Given the description of an element on the screen output the (x, y) to click on. 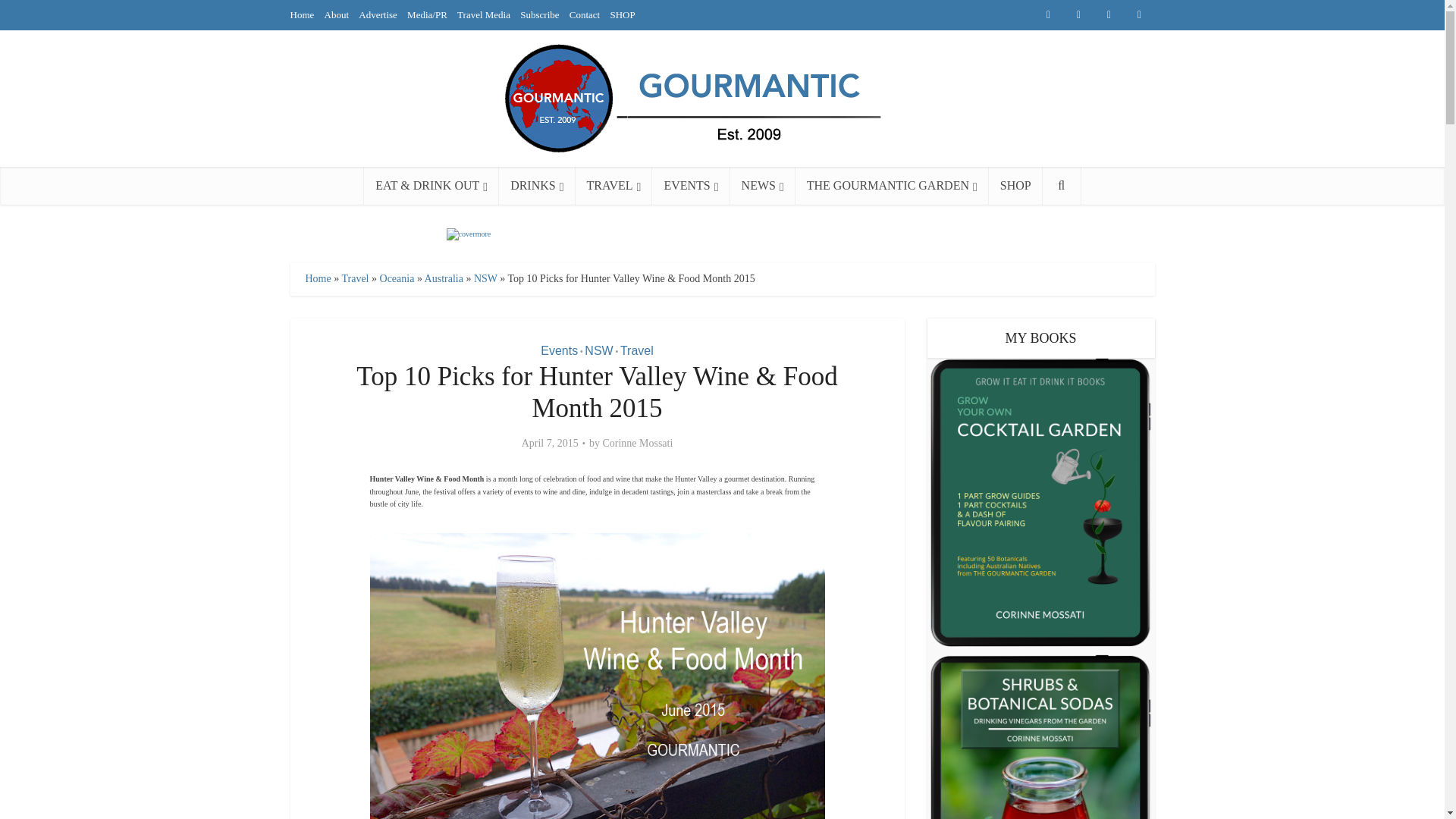
Advertise (377, 14)
DRINKS (537, 185)
Alcoholic Beverages (537, 185)
Subscribe (539, 14)
Travel Media (484, 14)
Home (301, 14)
SHOP (622, 14)
About (336, 14)
Contact (584, 14)
TRAVEL (613, 185)
